Given the description of an element on the screen output the (x, y) to click on. 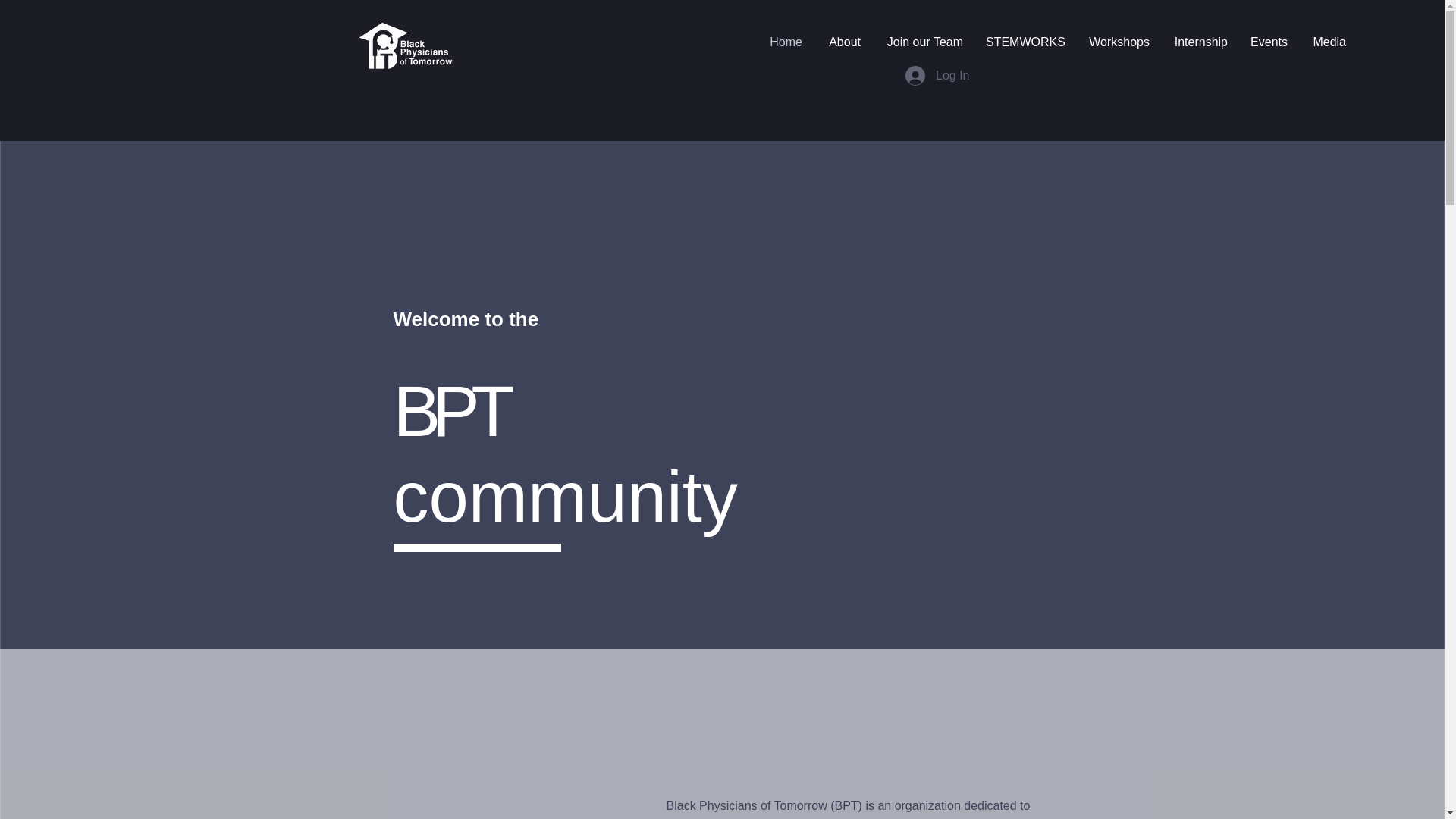
About (842, 42)
Media (1327, 42)
Events (1268, 42)
Workshops (1117, 42)
Home (785, 42)
Join our Team (923, 42)
STEMWORKS (1024, 42)
Log In (937, 75)
Internship (1199, 42)
